Given the description of an element on the screen output the (x, y) to click on. 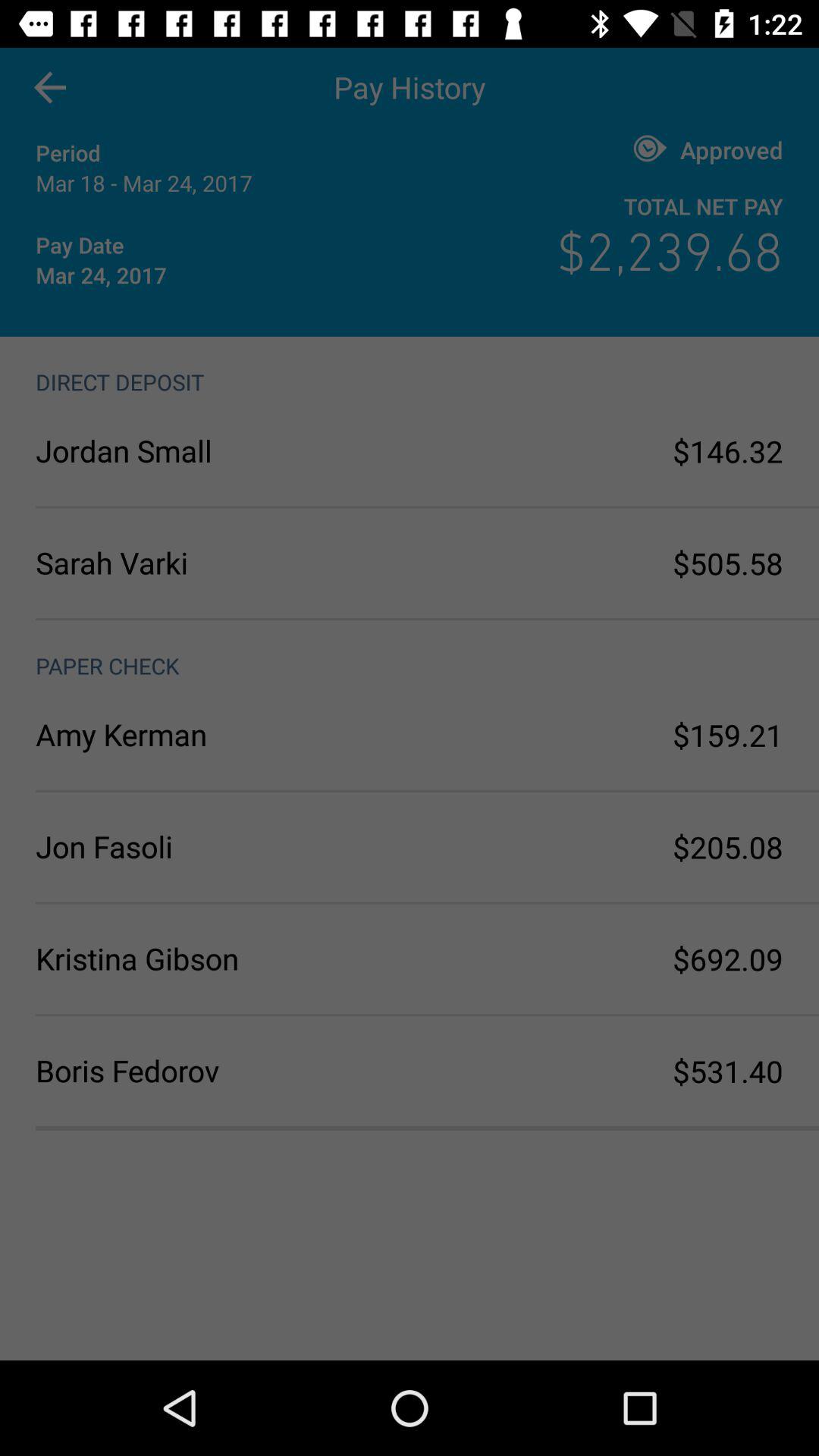
tap jordan small (222, 450)
